Given the description of an element on the screen output the (x, y) to click on. 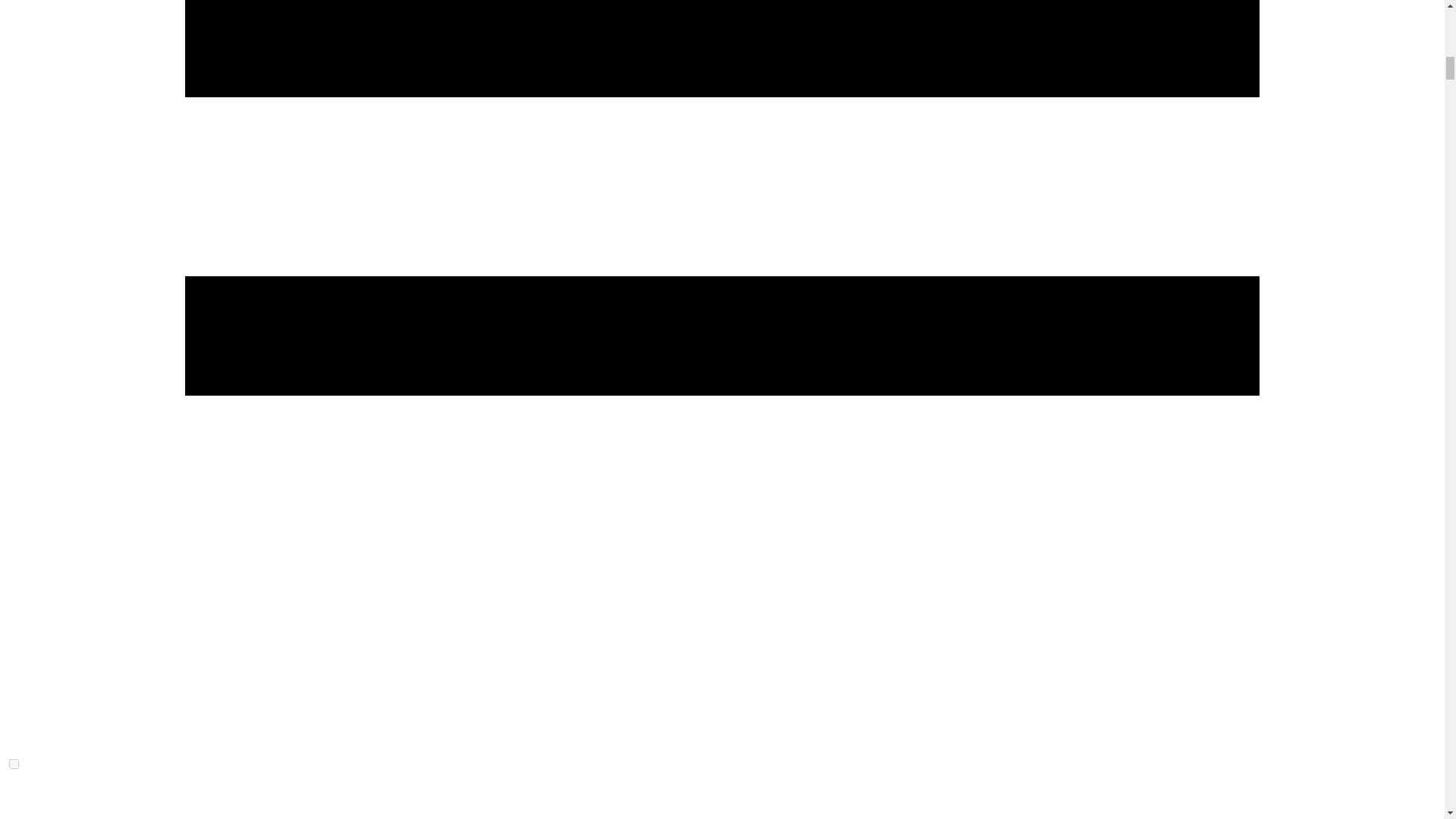
on (13, 764)
